Given the description of an element on the screen output the (x, y) to click on. 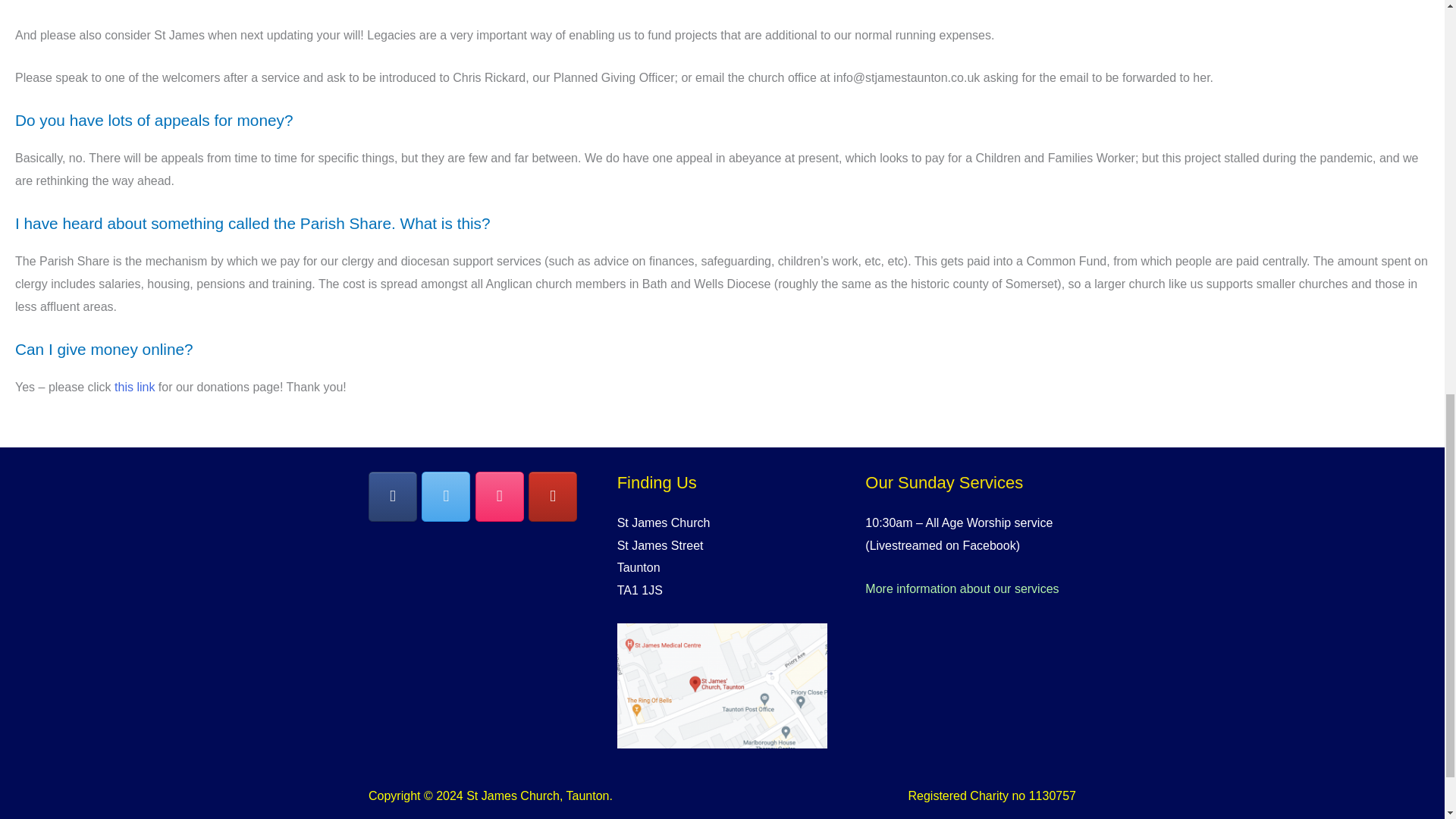
 on Facebook (392, 496)
YouTube (552, 496)
 on Instagram (500, 496)
 on X Twitter (446, 496)
